Given the description of an element on the screen output the (x, y) to click on. 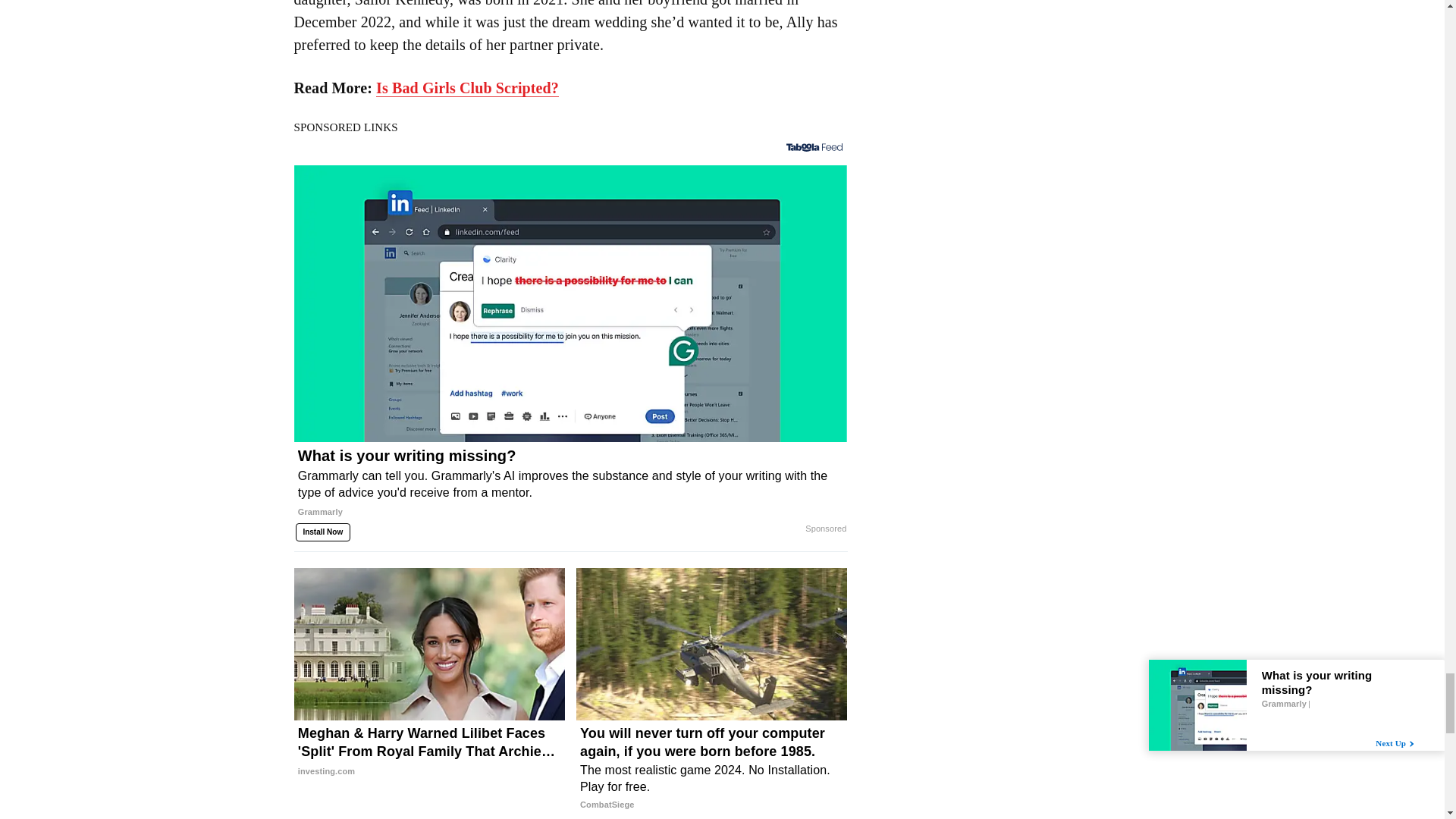
What is your writing missing? (570, 489)
Is Bad Girls Club Scripted? (467, 88)
